Given the description of an element on the screen output the (x, y) to click on. 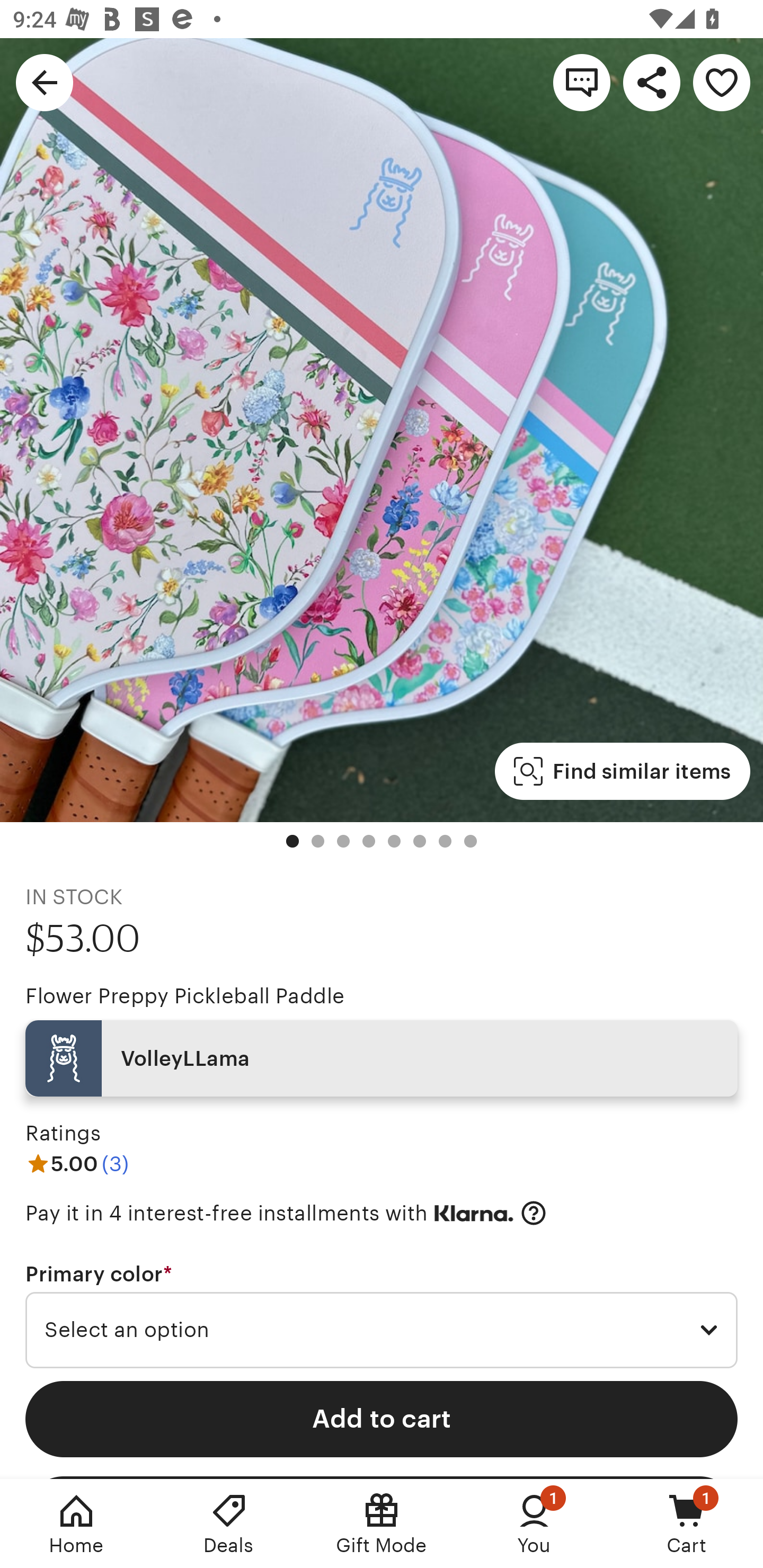
Navigate up (44, 81)
Contact shop (581, 81)
Share (651, 81)
Find similar items (622, 771)
Flower Preppy Pickleball Paddle (184, 996)
VolleyLLama (381, 1058)
Ratings (62, 1133)
5.00 (3) (76, 1163)
Primary color * Required Select an option (381, 1315)
Select an option (381, 1330)
Add to cart (381, 1418)
Home (76, 1523)
Deals (228, 1523)
Gift Mode (381, 1523)
You, 1 new notification You (533, 1523)
